Given the description of an element on the screen output the (x, y) to click on. 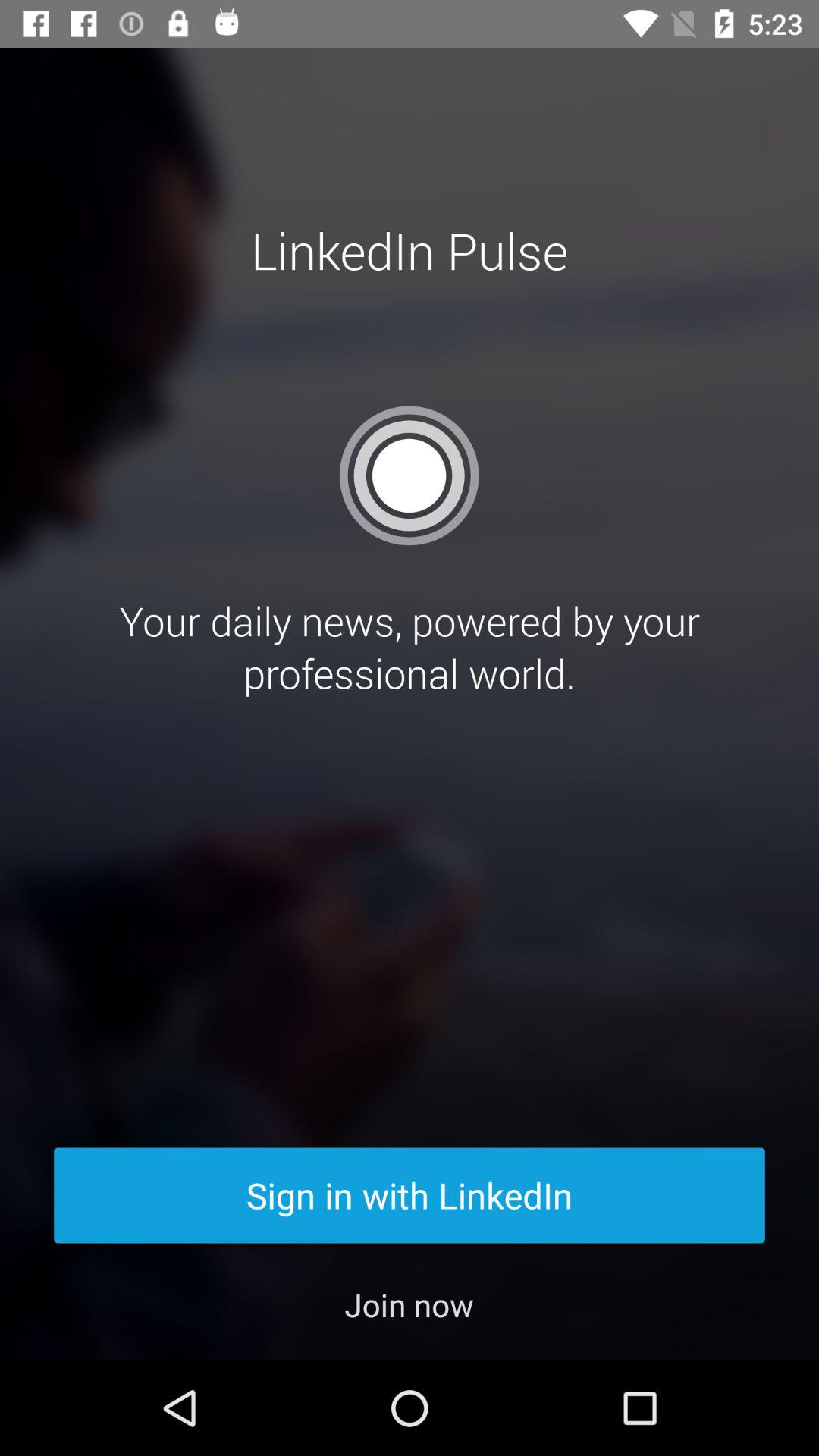
turn off the icon above the join now icon (409, 1195)
